Given the description of an element on the screen output the (x, y) to click on. 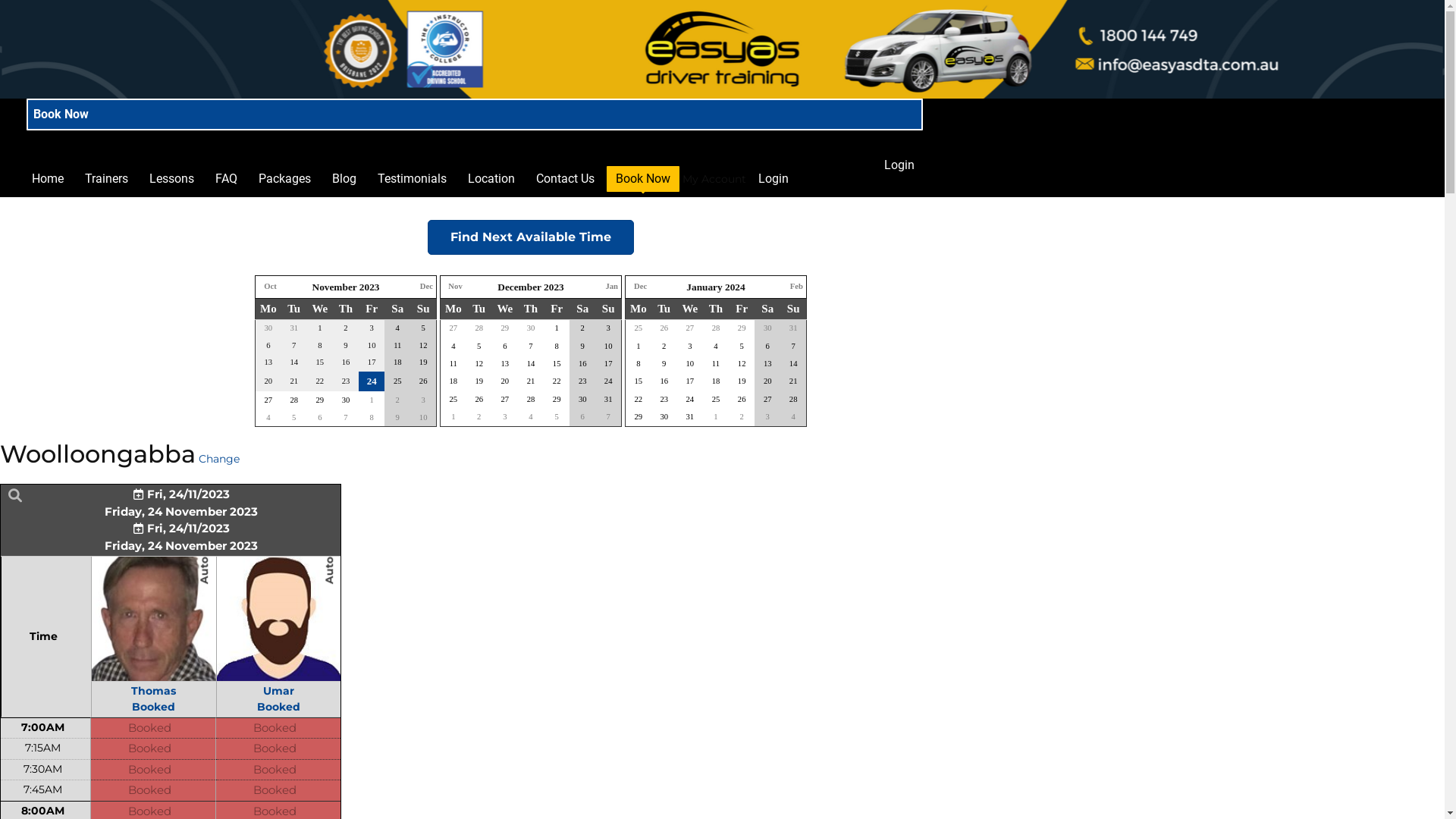
29 Element type: text (320, 399)
18 Element type: text (397, 361)
14 Element type: text (793, 363)
12 Element type: text (478, 363)
19 Element type: text (478, 380)
26 Element type: text (741, 399)
Login Element type: text (899, 165)
28 Element type: text (716, 327)
Lessons Element type: text (171, 178)
4 Element type: text (793, 416)
Dec Element type: text (426, 286)
28 Element type: text (793, 399)
14 Element type: text (531, 363)
30 Element type: text (663, 416)
25 Element type: text (716, 399)
29 Element type: text (556, 399)
27 Element type: text (267, 399)
1 Element type: text (453, 416)
6 Element type: text (767, 346)
4 Element type: text (397, 327)
4 Element type: text (453, 346)
20 Element type: text (505, 380)
21 Element type: text (793, 380)
2 Element type: text (663, 346)
26 Element type: text (423, 380)
23 Element type: text (582, 380)
Oct Element type: text (269, 286)
29 Element type: text (637, 416)
27 Element type: text (505, 399)
Umar Element type: hover (278, 618)
10 Element type: text (608, 346)
2 Element type: text (478, 416)
22 Element type: text (637, 399)
7 Element type: text (608, 416)
Jan Element type: text (611, 286)
3 Element type: text (608, 327)
12 Element type: text (741, 363)
3 Element type: text (689, 346)
5 Element type: text (556, 416)
1 Element type: text (715, 416)
9 Element type: text (397, 417)
18 Element type: text (716, 380)
10 Element type: text (690, 363)
9 Element type: text (663, 363)
20 Element type: text (767, 380)
1 Element type: text (556, 327)
27 Element type: text (767, 399)
Packages Element type: text (284, 178)
Contact Us Element type: text (565, 178)
29 Element type: text (741, 327)
6 Element type: text (582, 416)
Auto Element type: text (153, 617)
26 Element type: text (663, 327)
2 Element type: text (397, 399)
11 Element type: text (453, 363)
Thomas Element type: hover (153, 618)
Book Now Element type: text (642, 178)
22 Element type: text (556, 380)
24 Element type: text (690, 399)
25 Element type: text (452, 399)
24 Element type: text (608, 380)
7 Element type: text (345, 417)
Location Element type: text (491, 178)
16 Element type: text (663, 380)
4 Element type: text (267, 417)
19 Element type: text (741, 380)
Book Now Element type: text (474, 114)
21 Element type: text (531, 380)
24 Element type: text (371, 380)
Fri, 24/11/2023
Friday, 24 November 2023 Element type: text (180, 519)
7 Element type: text (530, 346)
6 Element type: text (319, 417)
4 Element type: text (715, 346)
1 Element type: text (371, 399)
8 Element type: text (556, 346)
5 Element type: text (423, 327)
1 Element type: text (638, 346)
15 Element type: text (637, 380)
8 Element type: text (371, 417)
26 Element type: text (478, 399)
12 Element type: text (423, 345)
3 Element type: text (767, 416)
10 Element type: text (423, 417)
17 Element type: text (690, 380)
Change Element type: text (218, 459)
Blog Element type: text (344, 178)
Thomas
Booked Element type: text (153, 698)
30 Element type: text (531, 327)
Auto Element type: text (278, 617)
31 Element type: text (608, 399)
2 Element type: text (741, 416)
Umar
Booked Element type: text (278, 698)
31 Element type: text (793, 327)
5 Element type: text (293, 417)
Woolloongabba Element type: text (97, 453)
23 Element type: text (663, 399)
9 Element type: text (582, 346)
5 Element type: text (741, 346)
30 Element type: text (767, 327)
29 Element type: text (505, 327)
30 Element type: text (582, 399)
27 Element type: text (452, 327)
Find Next Available Time Element type: text (530, 236)
19 Element type: text (423, 361)
17 Element type: text (608, 363)
Trainers Element type: text (106, 178)
7 Element type: text (793, 346)
15 Element type: text (556, 363)
3 Element type: text (423, 399)
13 Element type: text (767, 363)
Nov Element type: text (454, 286)
16 Element type: text (582, 363)
3 Element type: text (504, 416)
Login Element type: text (773, 178)
13 Element type: text (505, 363)
11 Element type: text (715, 363)
Home Element type: text (47, 178)
25 Element type: text (397, 380)
5 Element type: text (478, 346)
28 Element type: text (293, 399)
18 Element type: text (452, 380)
6 Element type: text (504, 346)
28 Element type: text (478, 327)
8 Element type: text (638, 363)
30 Element type: text (346, 399)
FAQ Element type: text (226, 178)
28 Element type: text (531, 399)
Feb Element type: text (796, 286)
Testimonials Element type: text (411, 178)
31 Element type: text (690, 416)
2 Element type: text (582, 327)
11 Element type: text (397, 345)
4 Element type: text (530, 416)
25 Element type: text (637, 327)
27 Element type: text (690, 327)
Dec Element type: text (639, 286)
